Given the description of an element on the screen output the (x, y) to click on. 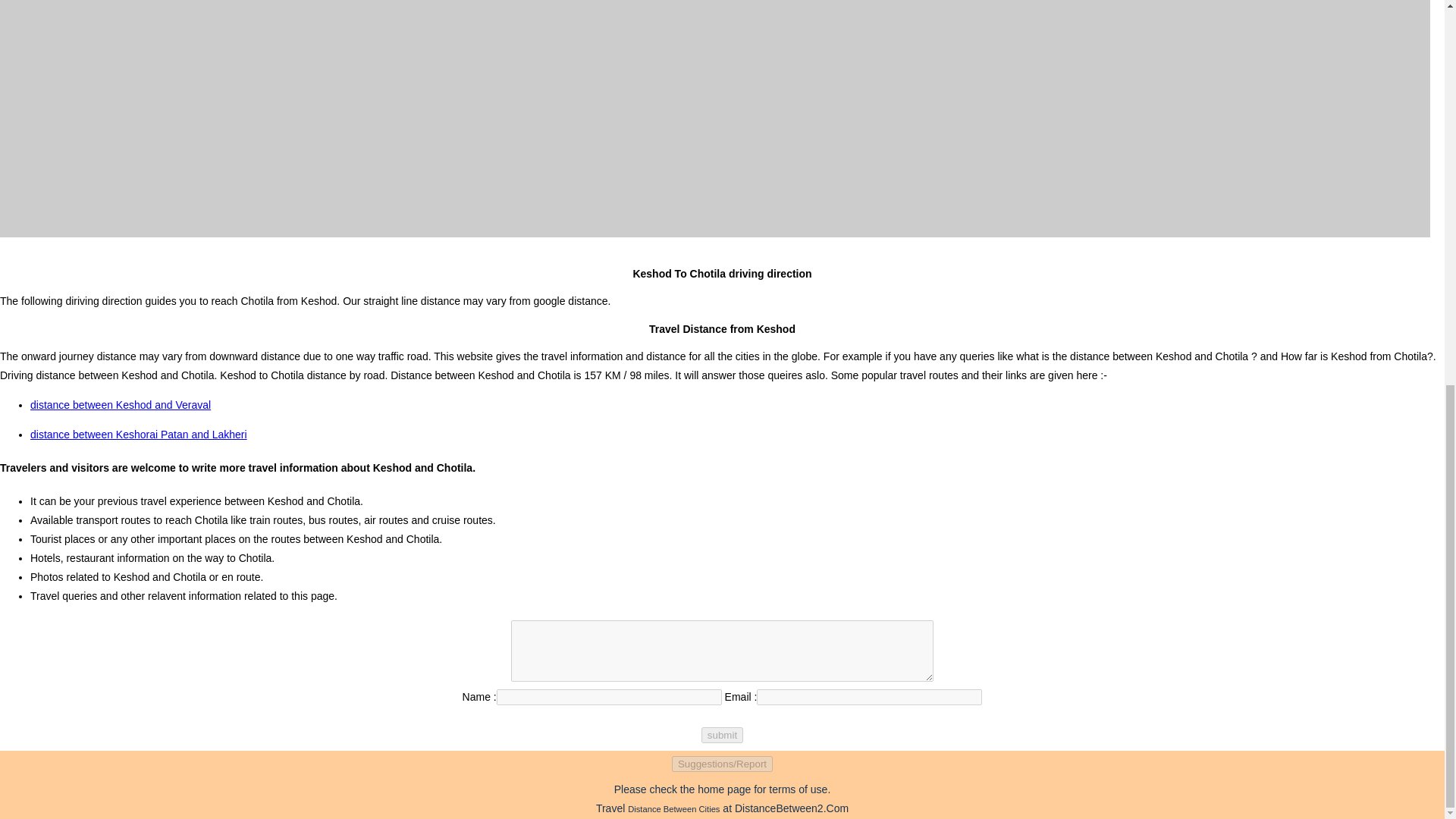
distance between Keshod and Veraval (120, 404)
Distance Between Cities (673, 809)
submit (721, 734)
distance between Keshorai Patan and Lakheri (138, 434)
submit (721, 734)
